Given the description of an element on the screen output the (x, y) to click on. 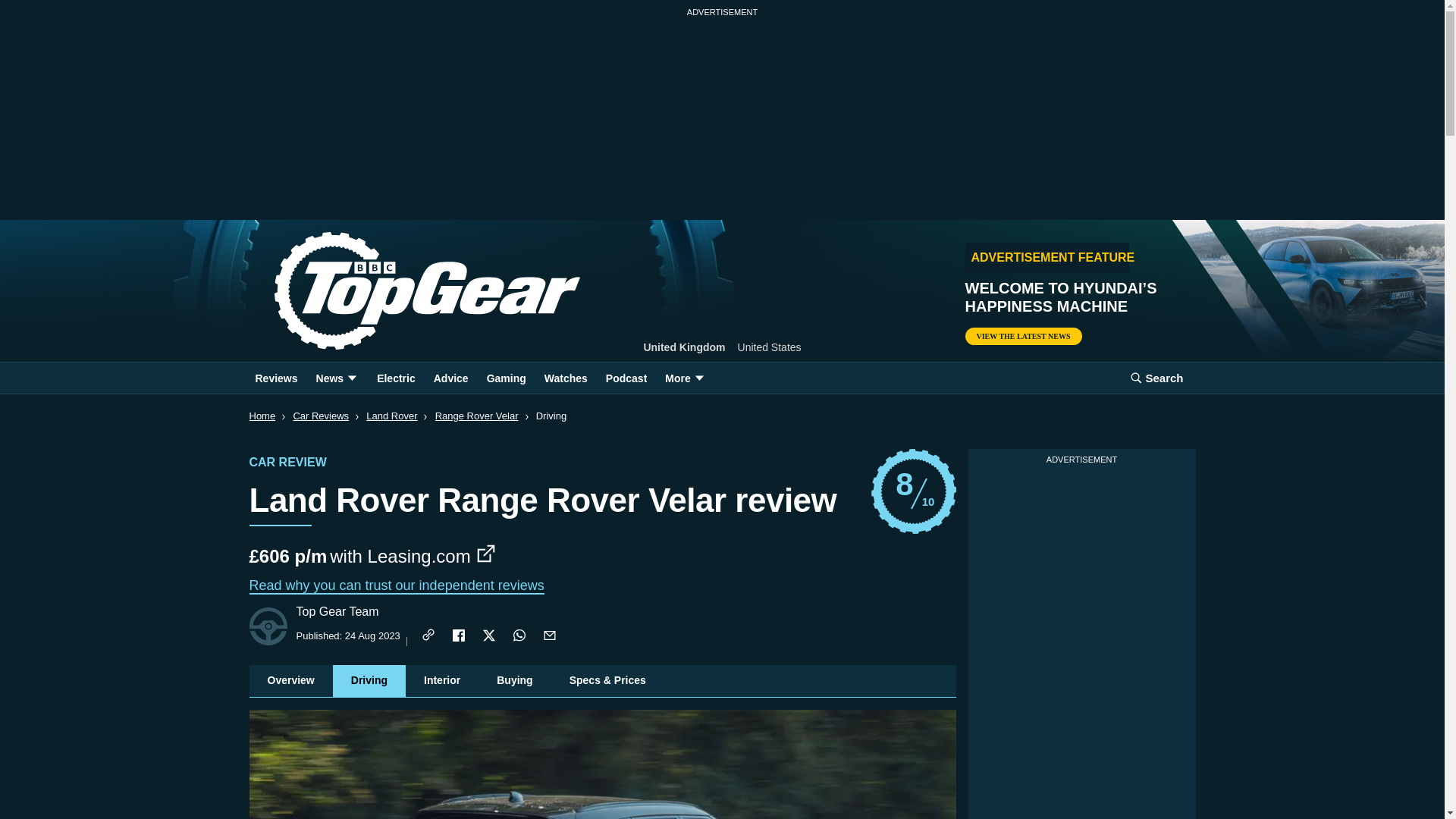
Search (1156, 377)
News (337, 377)
Home (261, 415)
Car Reviews (320, 415)
Advice (451, 377)
Podcast (625, 377)
VIEW THE LATEST NEWS (912, 490)
Home (1022, 335)
Reviews (401, 290)
